Given the description of an element on the screen output the (x, y) to click on. 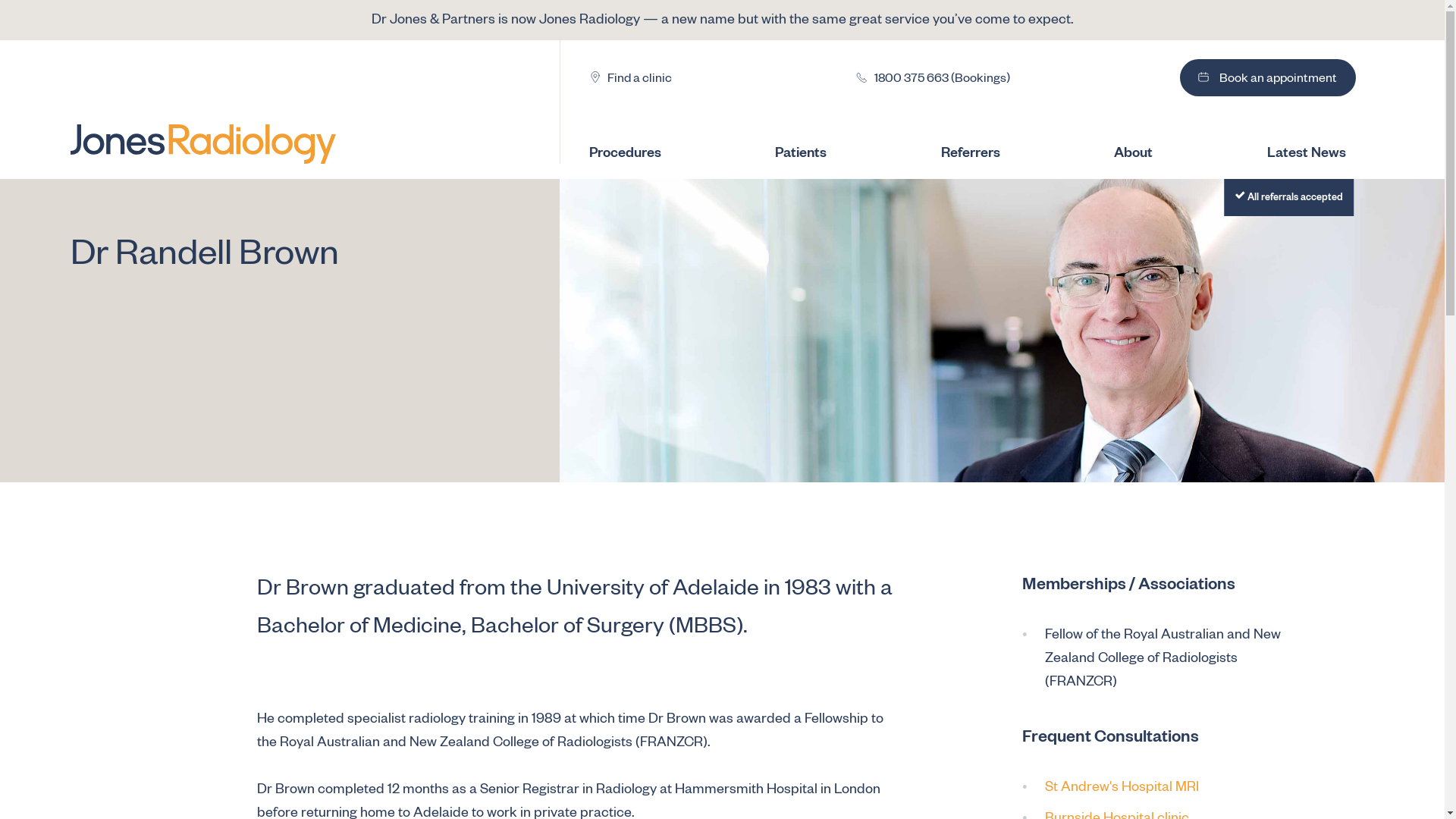
Referrers Element type: text (985, 152)
Book an appointment Element type: text (1267, 78)
All referrals accepted Element type: text (939, 197)
Find a clinic Element type: text (628, 78)
Procedures Element type: text (639, 152)
Patients Element type: text (815, 152)
1800 375 663 (Bookings) Element type: text (931, 78)
Latest News Element type: text (1305, 152)
About Element type: text (1148, 152)
St Andrew's Hospital MRI Element type: text (1121, 788)
